Given the description of an element on the screen output the (x, y) to click on. 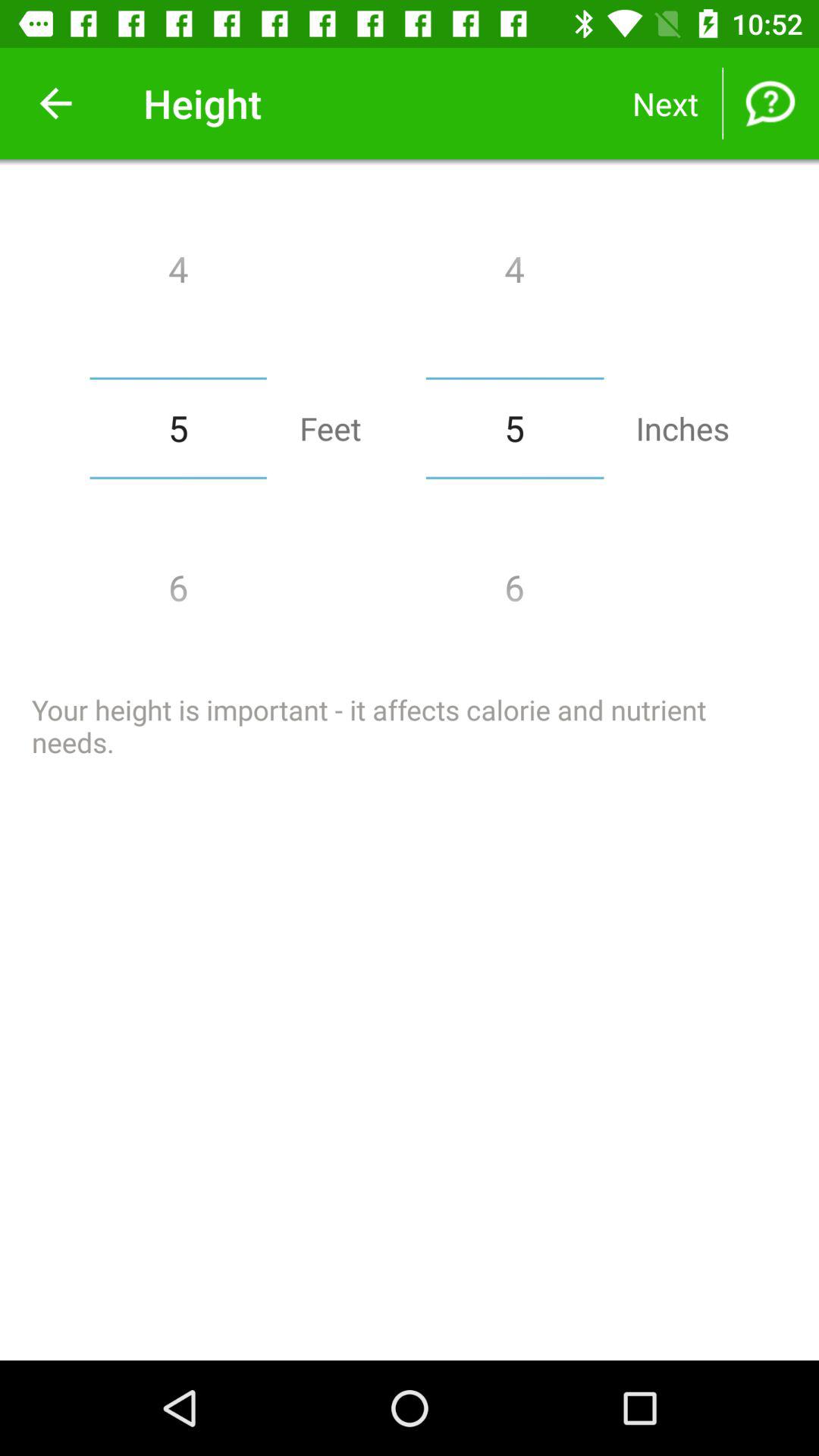
open item to the left of height (55, 103)
